Given the description of an element on the screen output the (x, y) to click on. 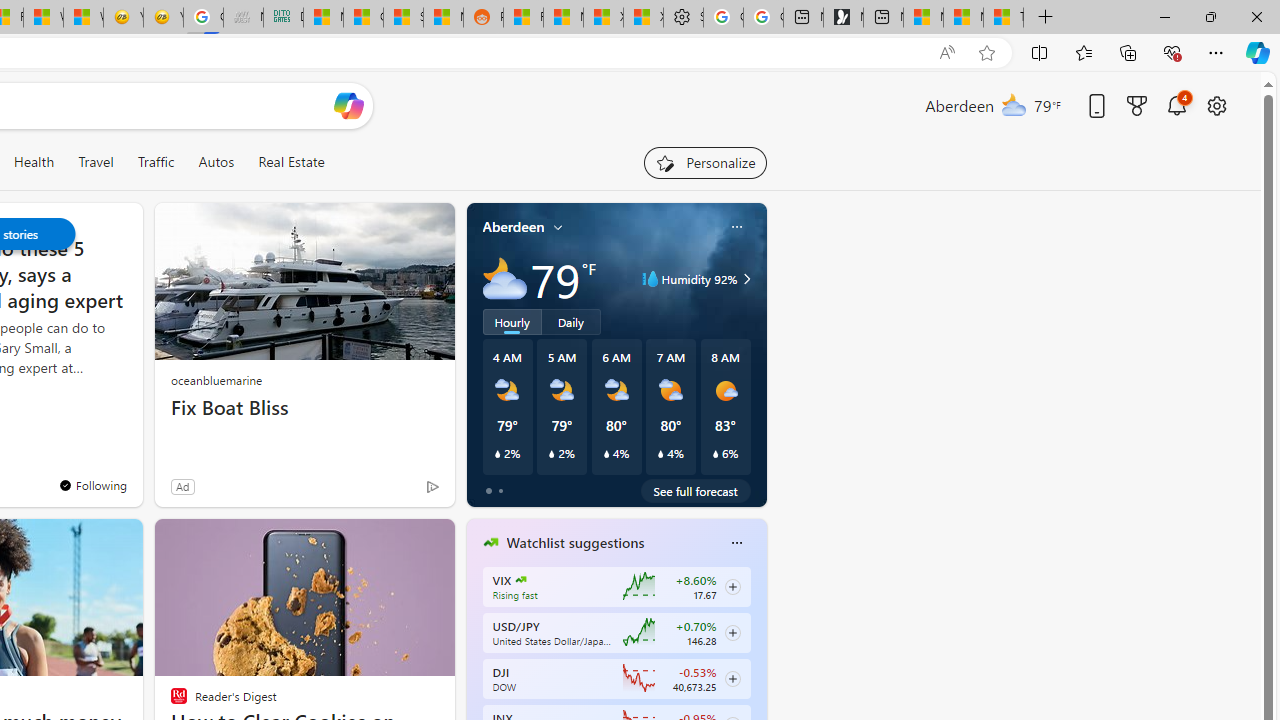
Aberdeen (513, 227)
Daily (571, 321)
